Given the description of an element on the screen output the (x, y) to click on. 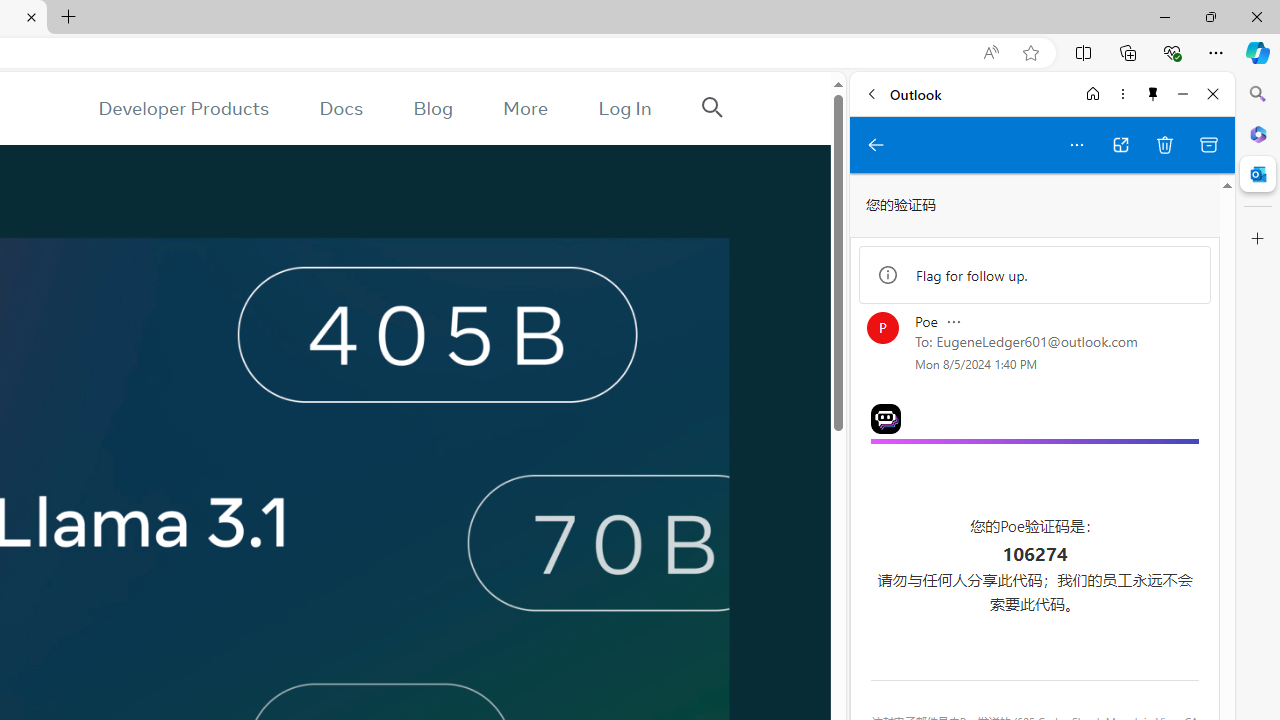
Open in new tab (1120, 144)
Developer Products (183, 108)
Unpin side pane (1153, 93)
EugeneLedger601@outlook.com (1037, 341)
Log In (625, 108)
